Given the description of an element on the screen output the (x, y) to click on. 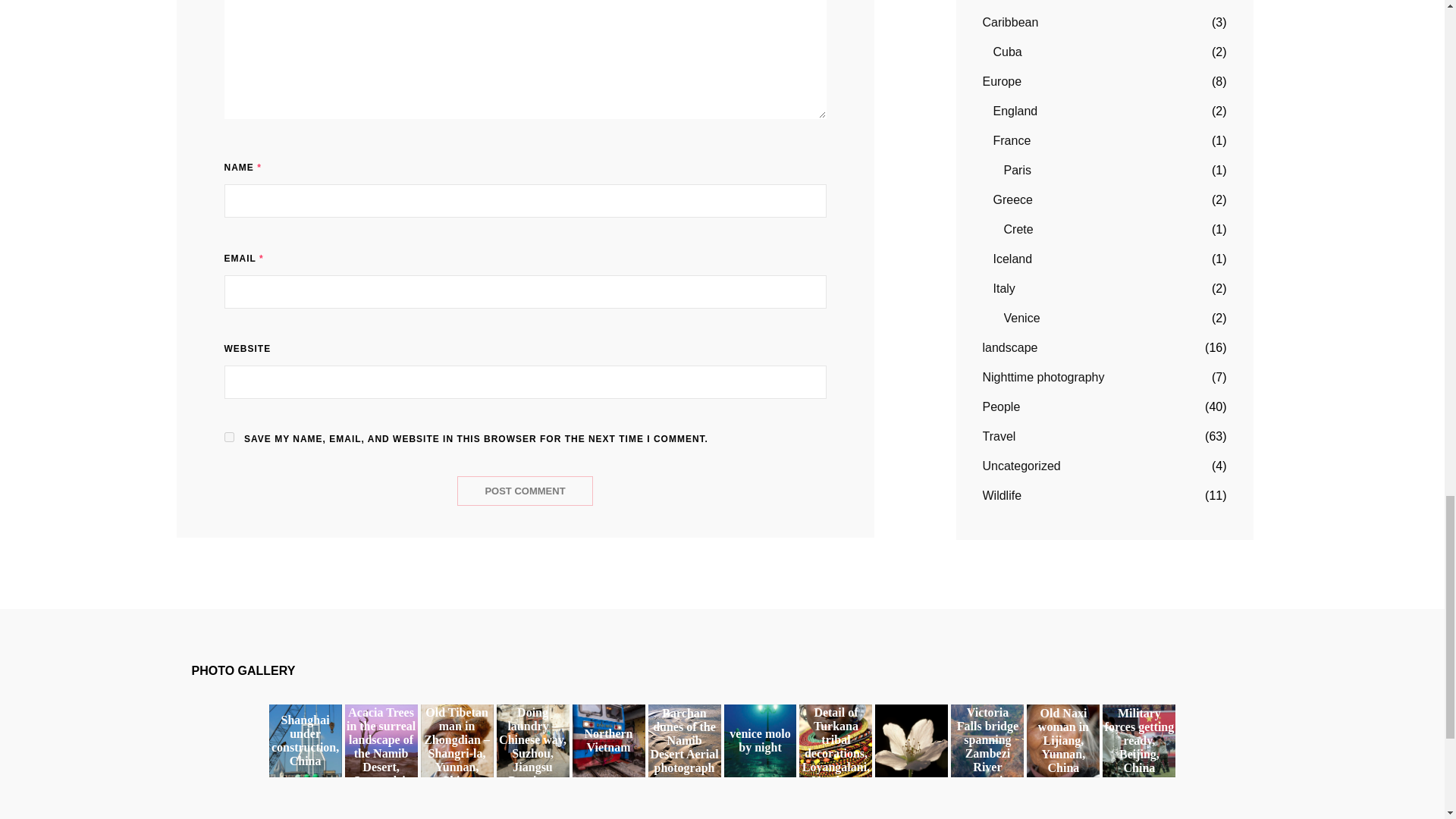
Post Comment (524, 490)
Post Comment (524, 490)
yes (229, 437)
